Given the description of an element on the screen output the (x, y) to click on. 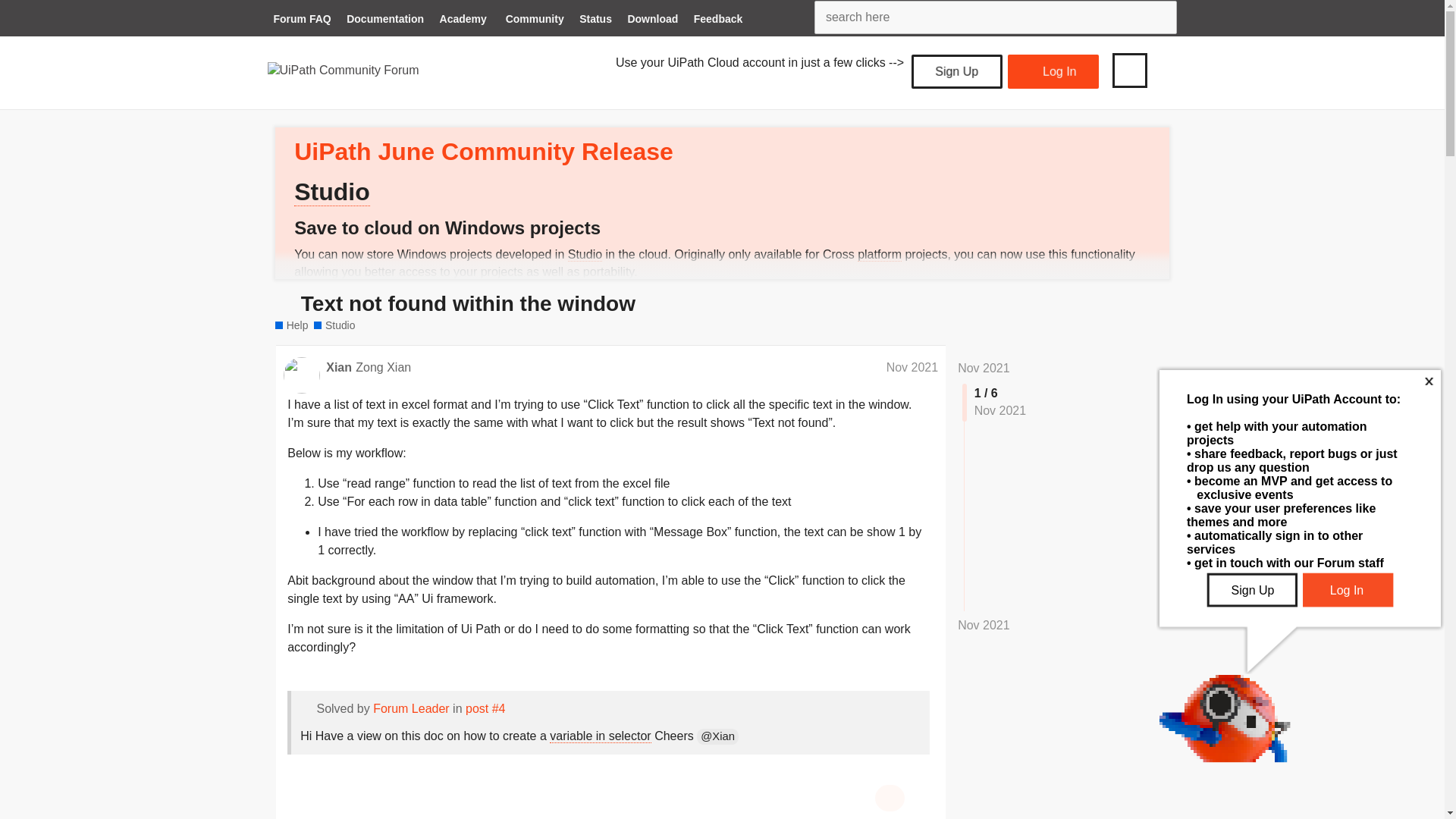
Documentation (384, 20)
Dismiss this banner (1145, 137)
Open advanced search (1161, 17)
Forum FAQ (301, 20)
menu (1129, 69)
Academy (463, 20)
